Given the description of an element on the screen output the (x, y) to click on. 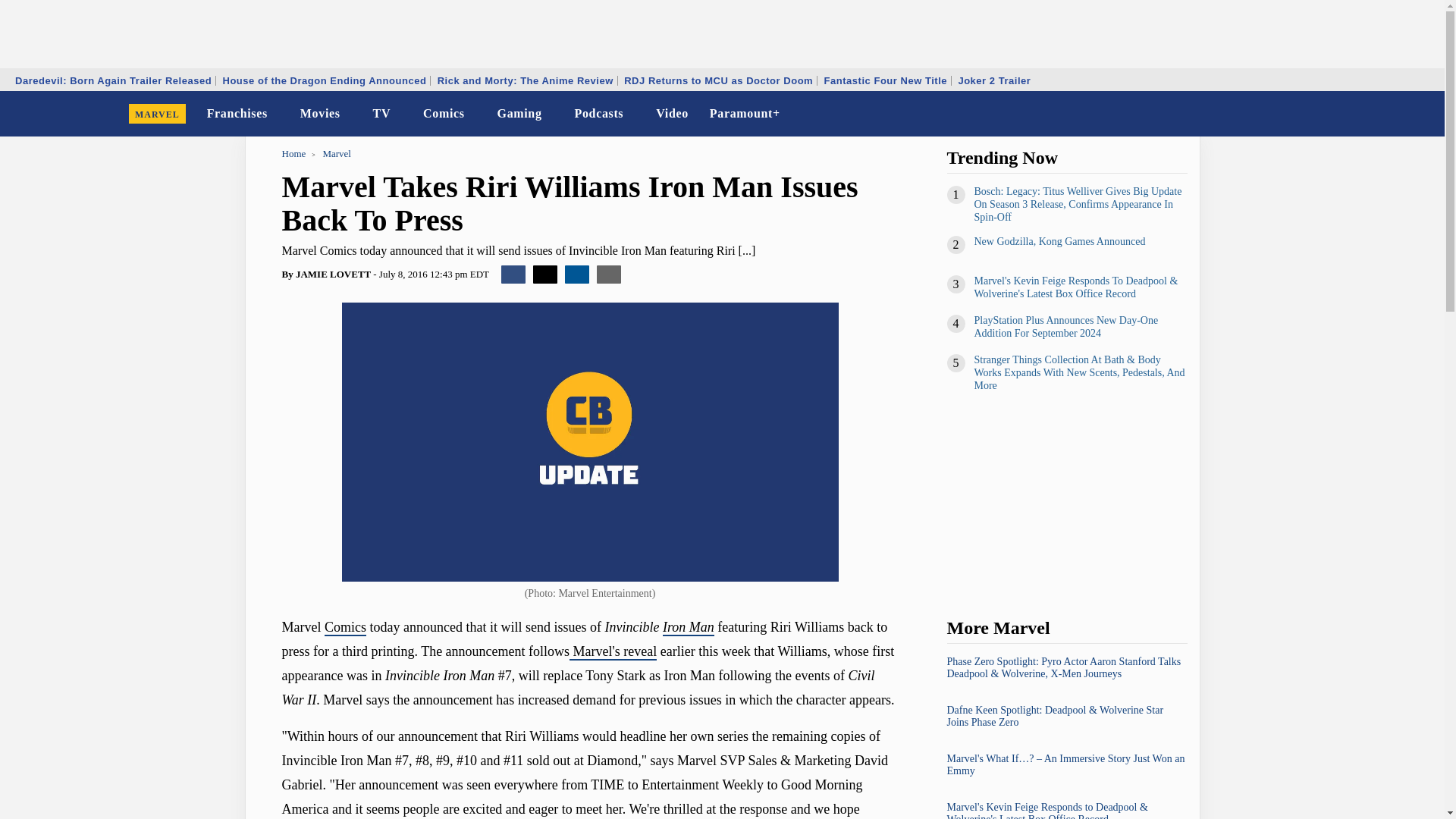
Joker 2 Trailer (993, 80)
Search (1422, 114)
Fantastic Four New Title (886, 80)
Rick and Morty: The Anime Review (525, 80)
Comics (443, 113)
Daredevil: Born Again Trailer Released (113, 80)
Dark Mode (1394, 113)
RDJ Returns to MCU as Doctor Doom (718, 80)
Movies (320, 113)
